Given the description of an element on the screen output the (x, y) to click on. 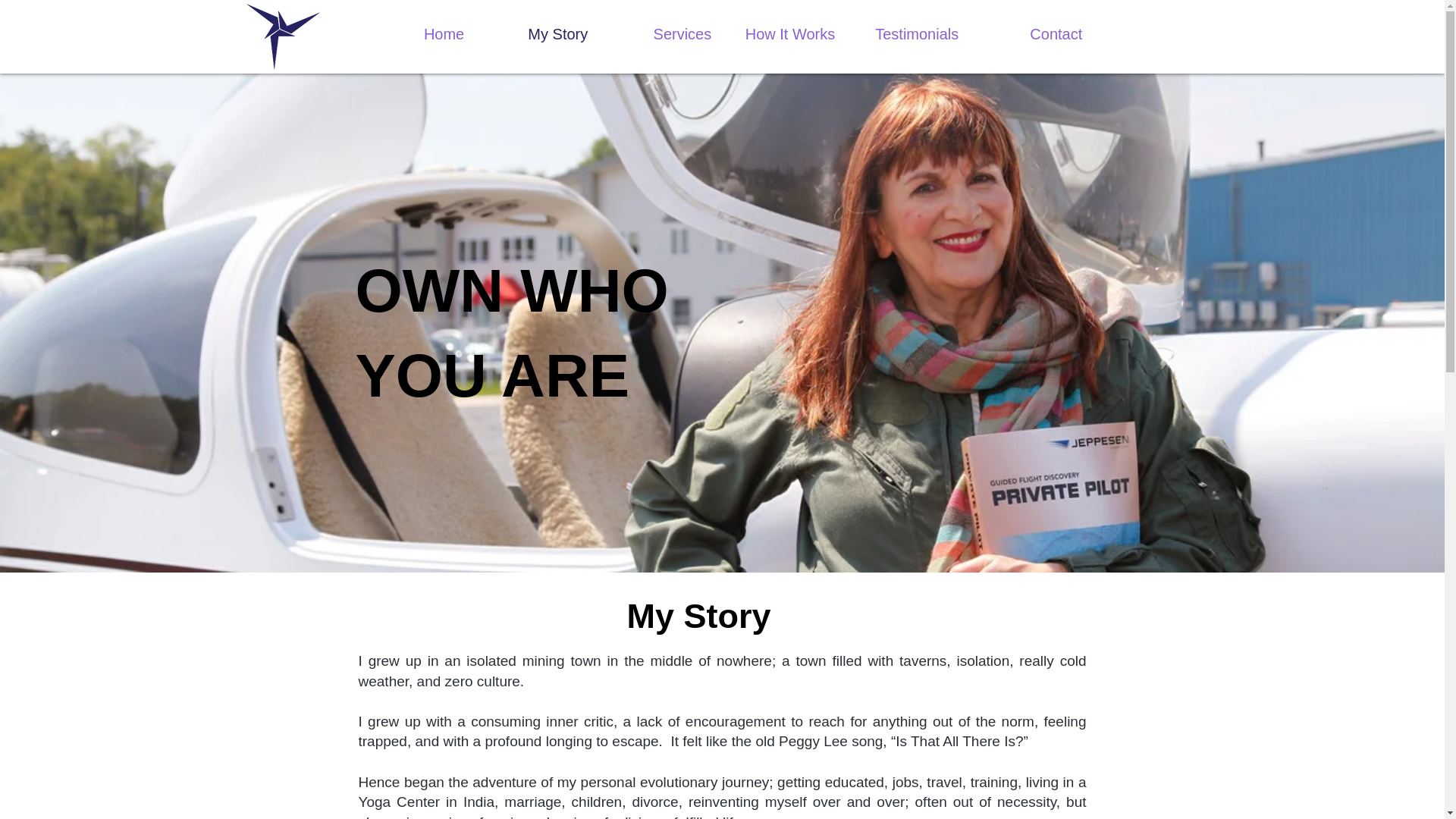
My Story (537, 34)
Testimonials (907, 34)
How It Works (783, 34)
Contact (1031, 34)
Services (660, 34)
Home (414, 34)
